Given the description of an element on the screen output the (x, y) to click on. 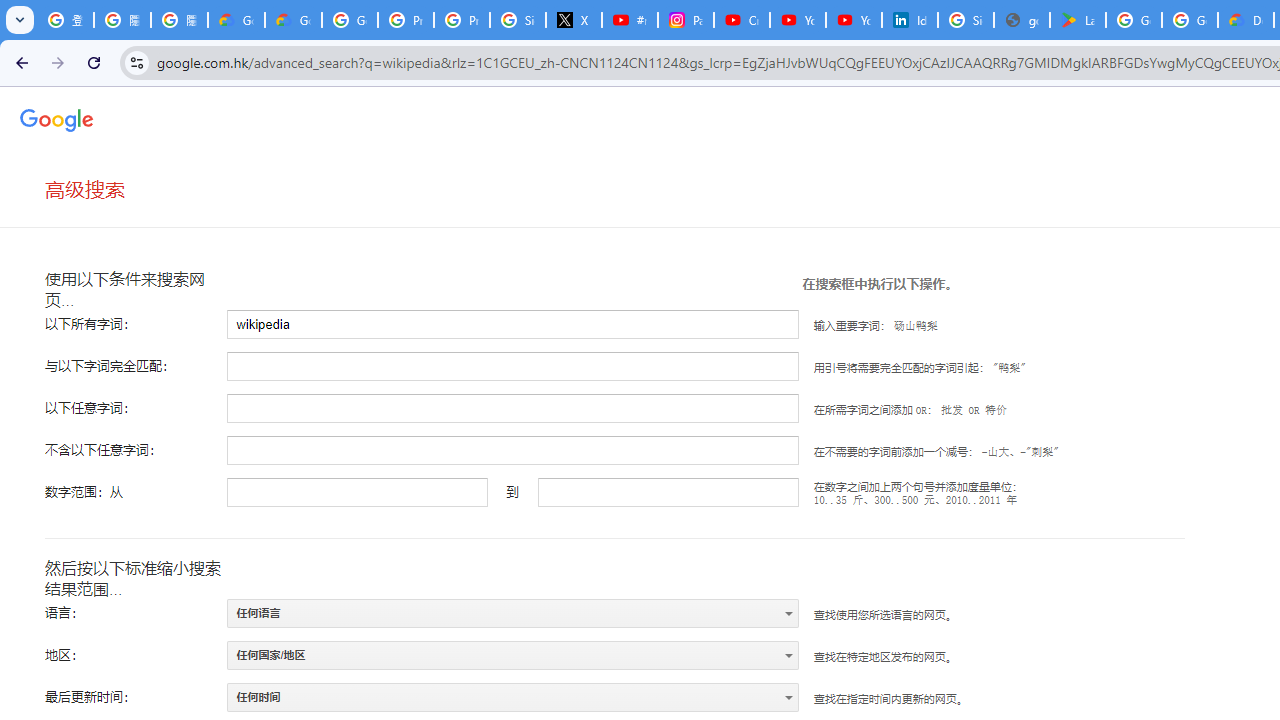
#nbabasketballhighlights - YouTube (629, 20)
Google Workspace - Specific Terms (1190, 20)
google_privacy_policy_en.pdf (1021, 20)
Google Cloud Privacy Notice (235, 20)
Sign in - Google Accounts (966, 20)
Privacy Help Center - Policies Help (461, 20)
